Given the description of an element on the screen output the (x, y) to click on. 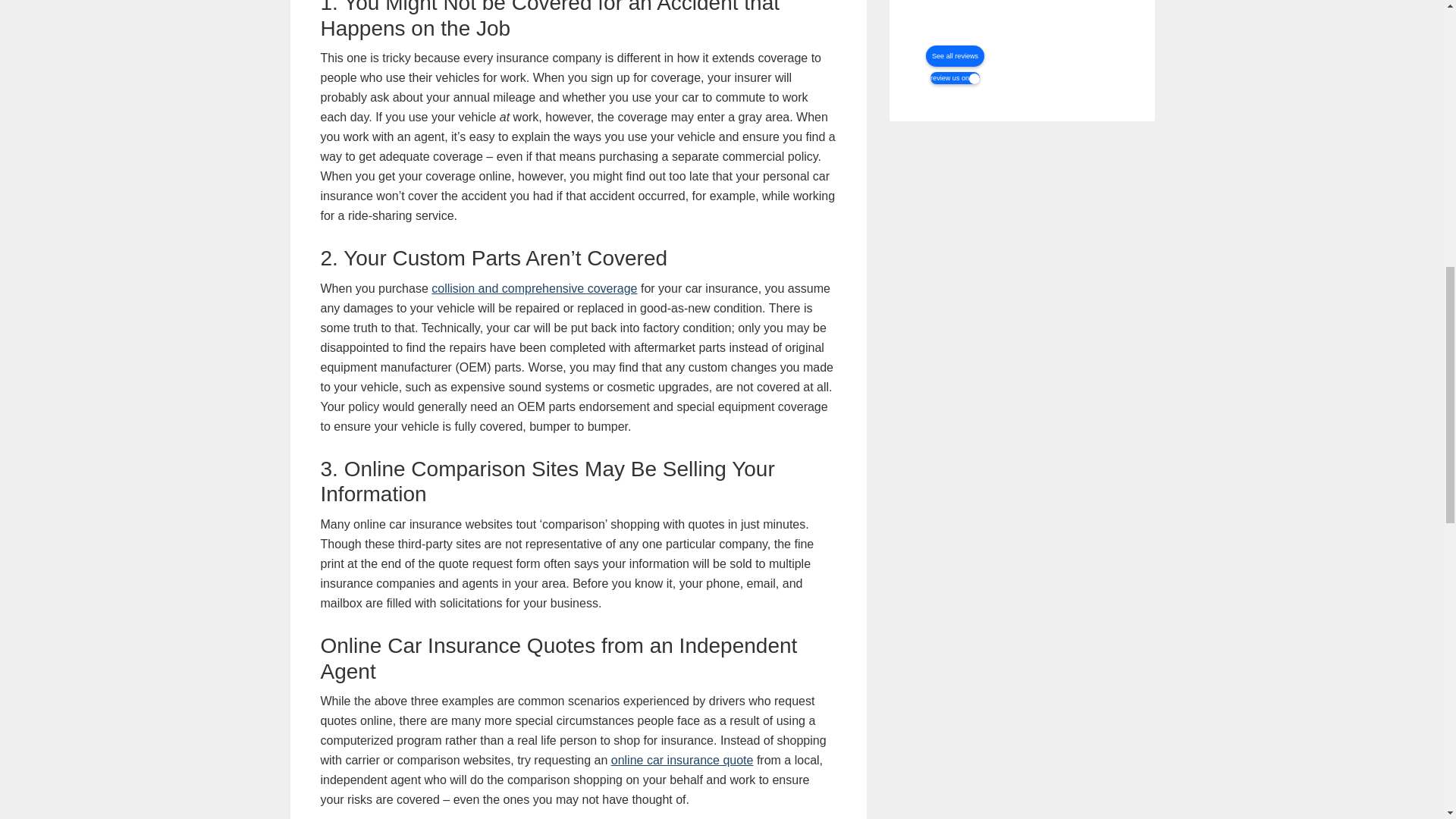
online car insurance quote (682, 759)
collision and comprehensive coverage (533, 287)
See all reviews (955, 55)
